Given the description of an element on the screen output the (x, y) to click on. 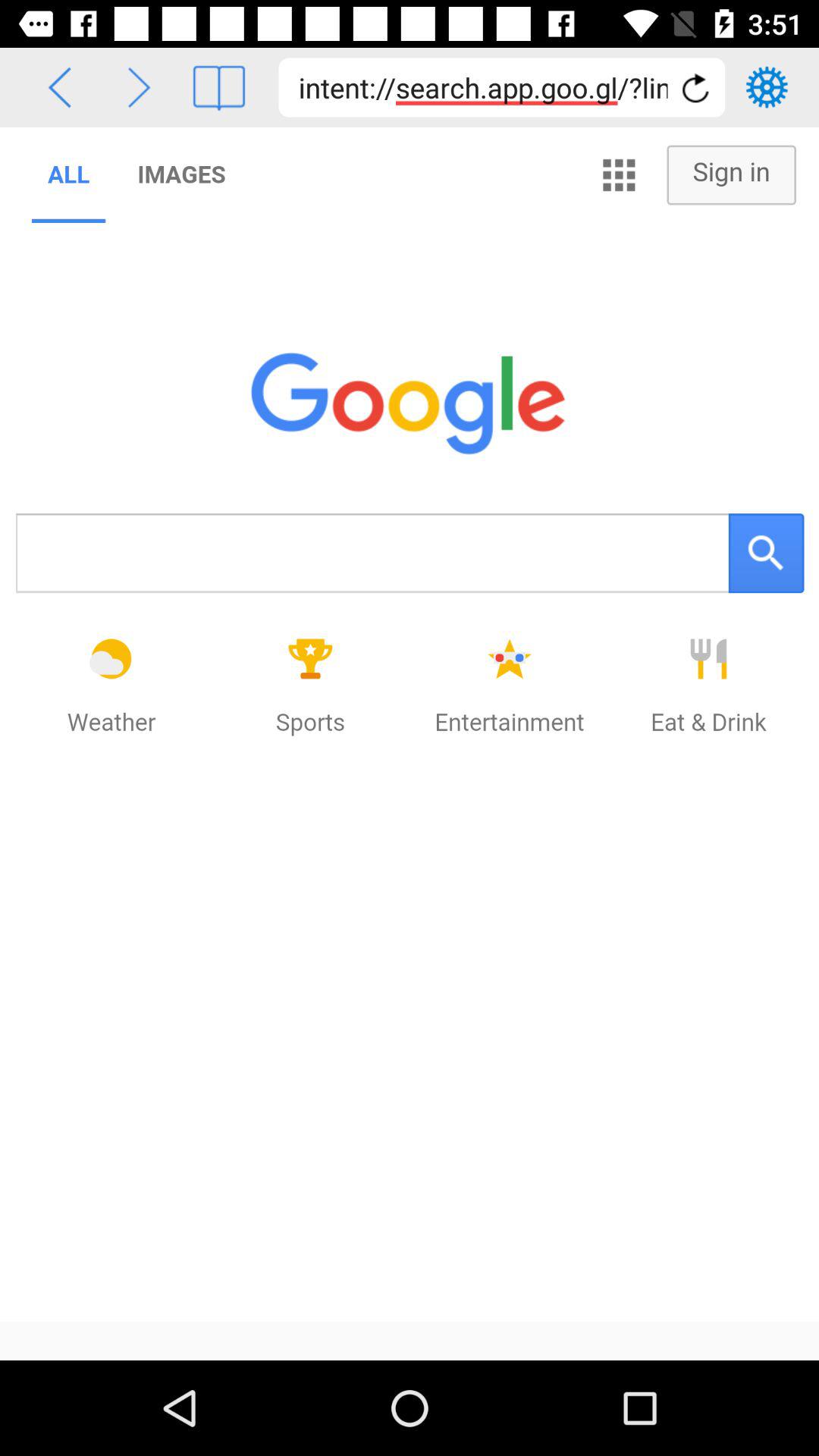
options (766, 87)
